Given the description of an element on the screen output the (x, y) to click on. 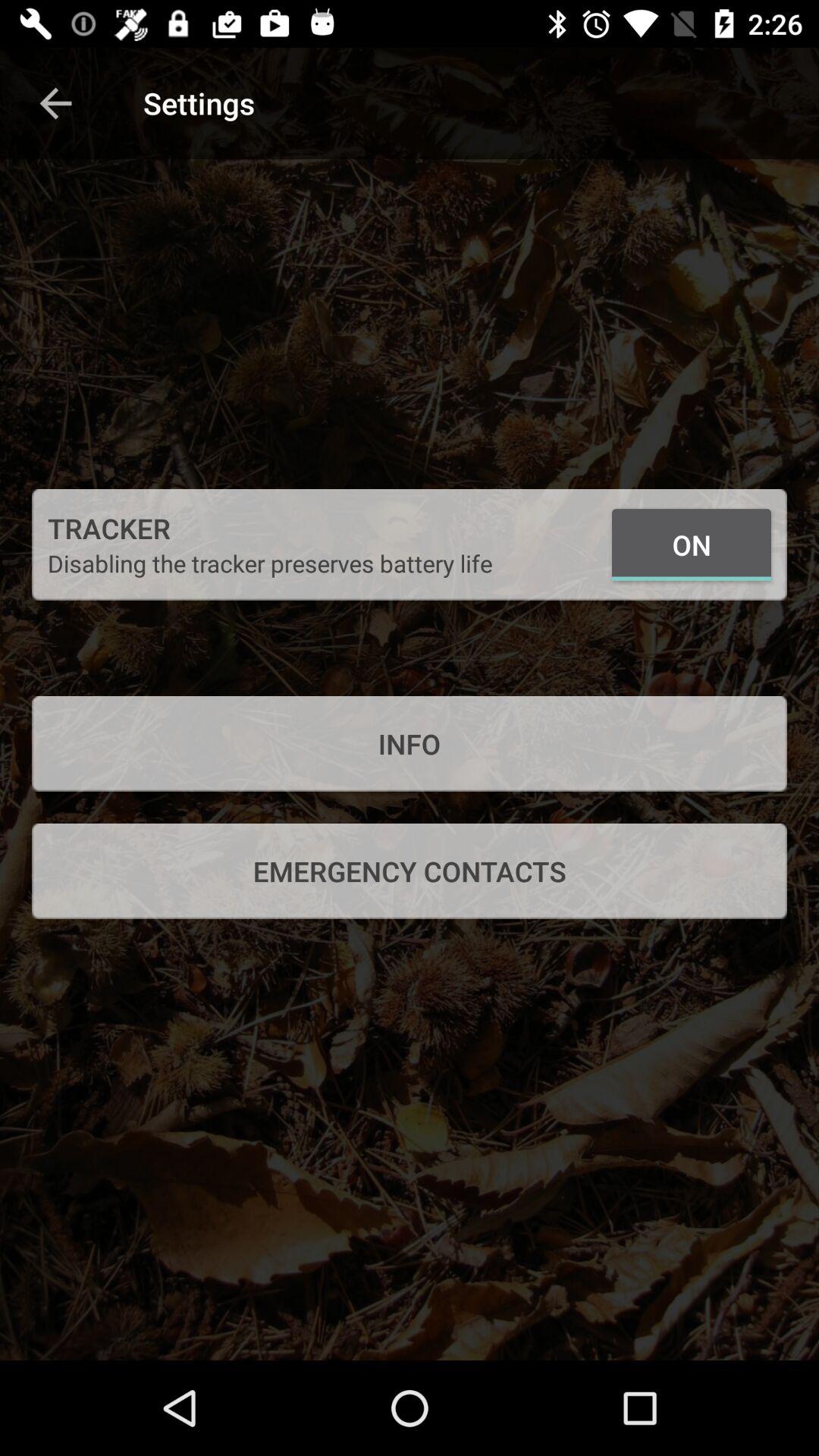
turn on item on the right (691, 544)
